Given the description of an element on the screen output the (x, y) to click on. 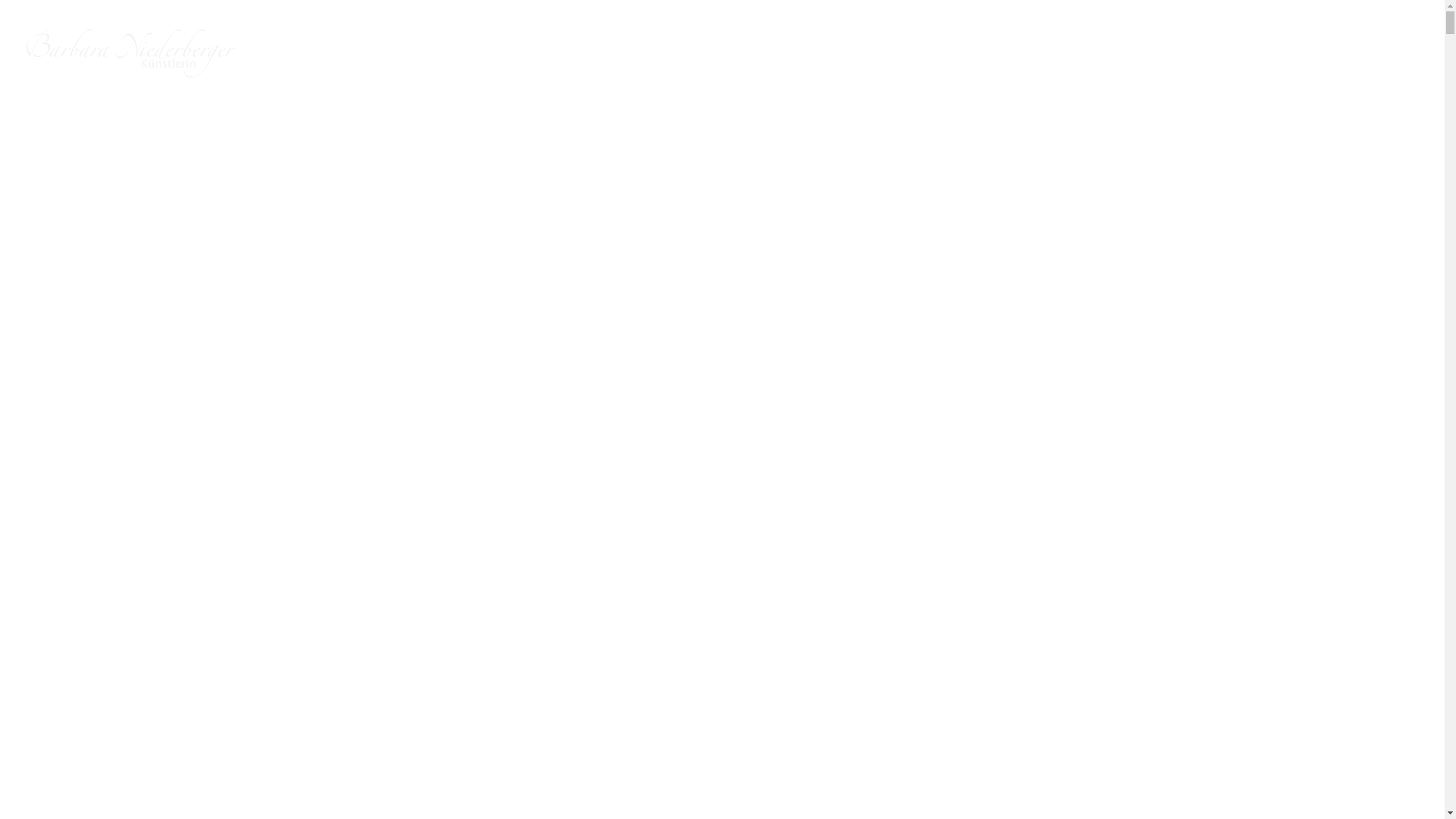
Serien Element type: text (1331, 53)
Kontakt Element type: text (1394, 53)
Startseite Element type: text (1199, 53)
Barbara Element type: text (1270, 53)
